Given the description of an element on the screen output the (x, y) to click on. 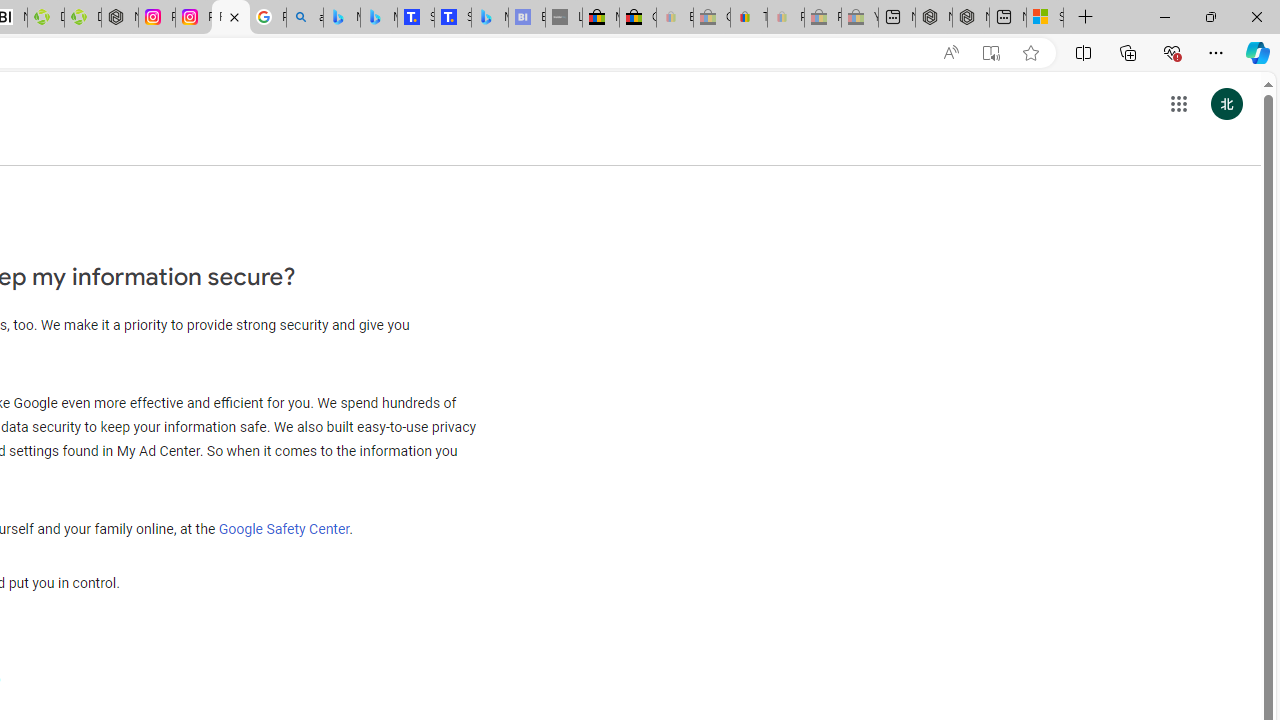
Class: gb_E (1178, 103)
Google apps (1178, 103)
Threats and offensive language policy | eBay (748, 17)
Nordace - Nordace Edin Collection (120, 17)
Sign in to your Microsoft account (1044, 17)
